Given the description of an element on the screen output the (x, y) to click on. 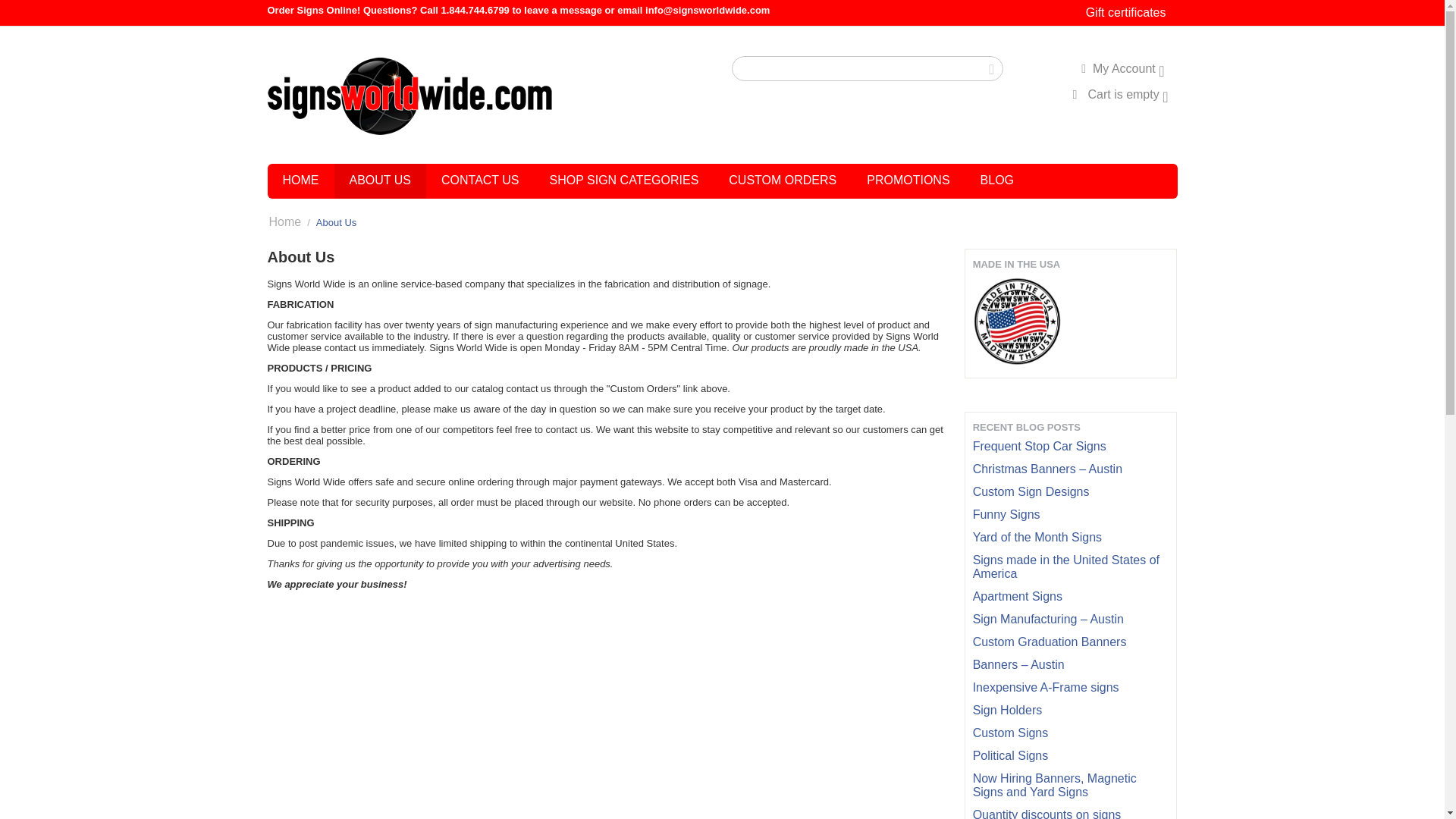
BLOG (997, 181)
CUSTOM ORDERS (782, 181)
Custom Sign Designs (1030, 491)
Yard of the Month Signs (1037, 536)
PROMOTIONS (907, 181)
Frequent Stop Car Signs (1039, 445)
Signs made in the United States of America (1065, 566)
Cart is empty (1119, 93)
Apartment Signs (1017, 595)
CONTACT US (480, 181)
Search products (867, 68)
ABOUT US (379, 181)
Home (284, 221)
Funny Signs (1006, 513)
Gift certificates (1126, 11)
